Given the description of an element on the screen output the (x, y) to click on. 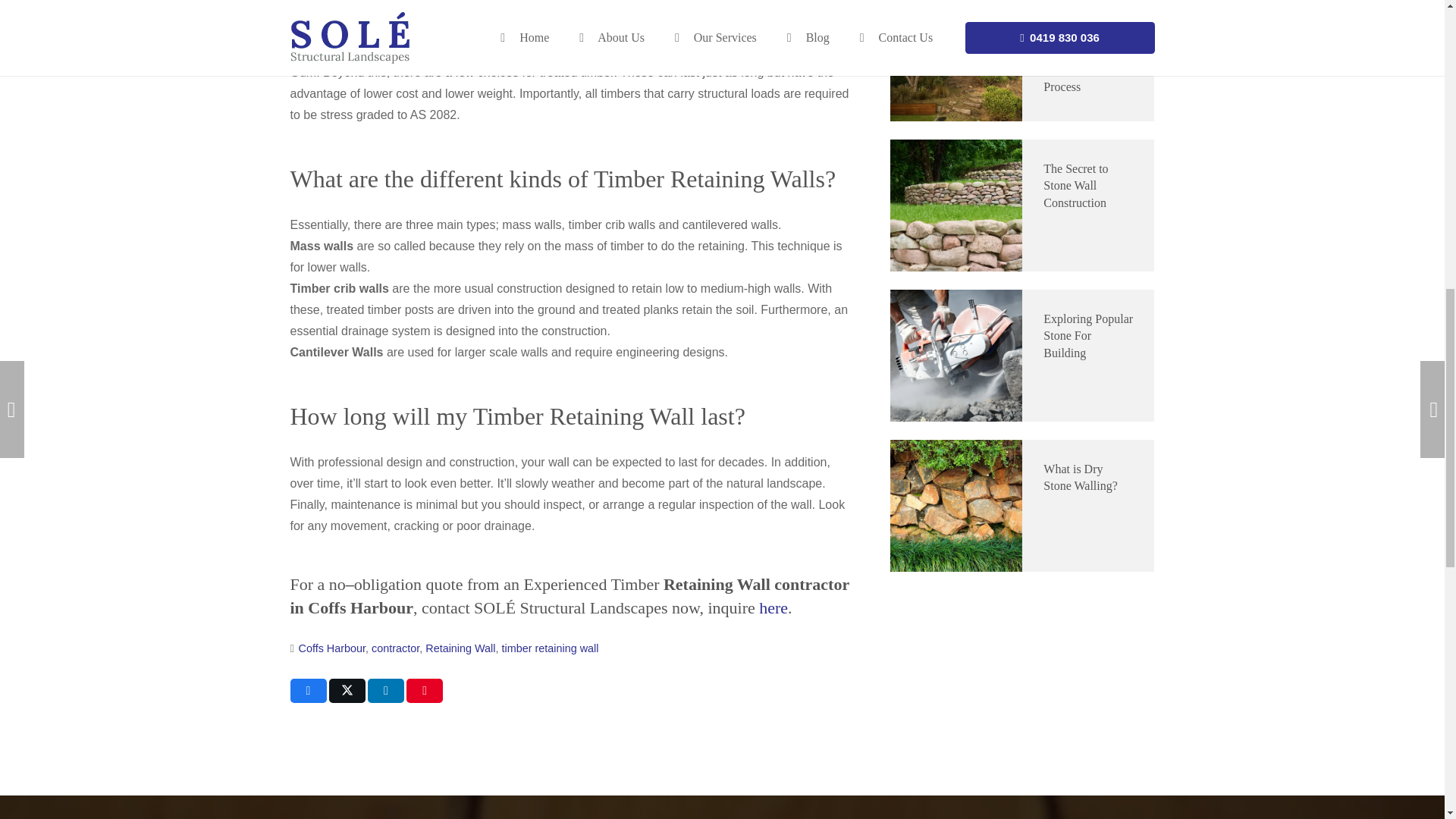
Retaining Wall (460, 648)
Pin this (424, 690)
Back to top (30, 26)
timber retaining wall (550, 648)
contractor (395, 648)
Share this (386, 690)
Share this (307, 690)
Coffs Harbour (332, 648)
here (772, 607)
Tweet this (347, 690)
